Given the description of an element on the screen output the (x, y) to click on. 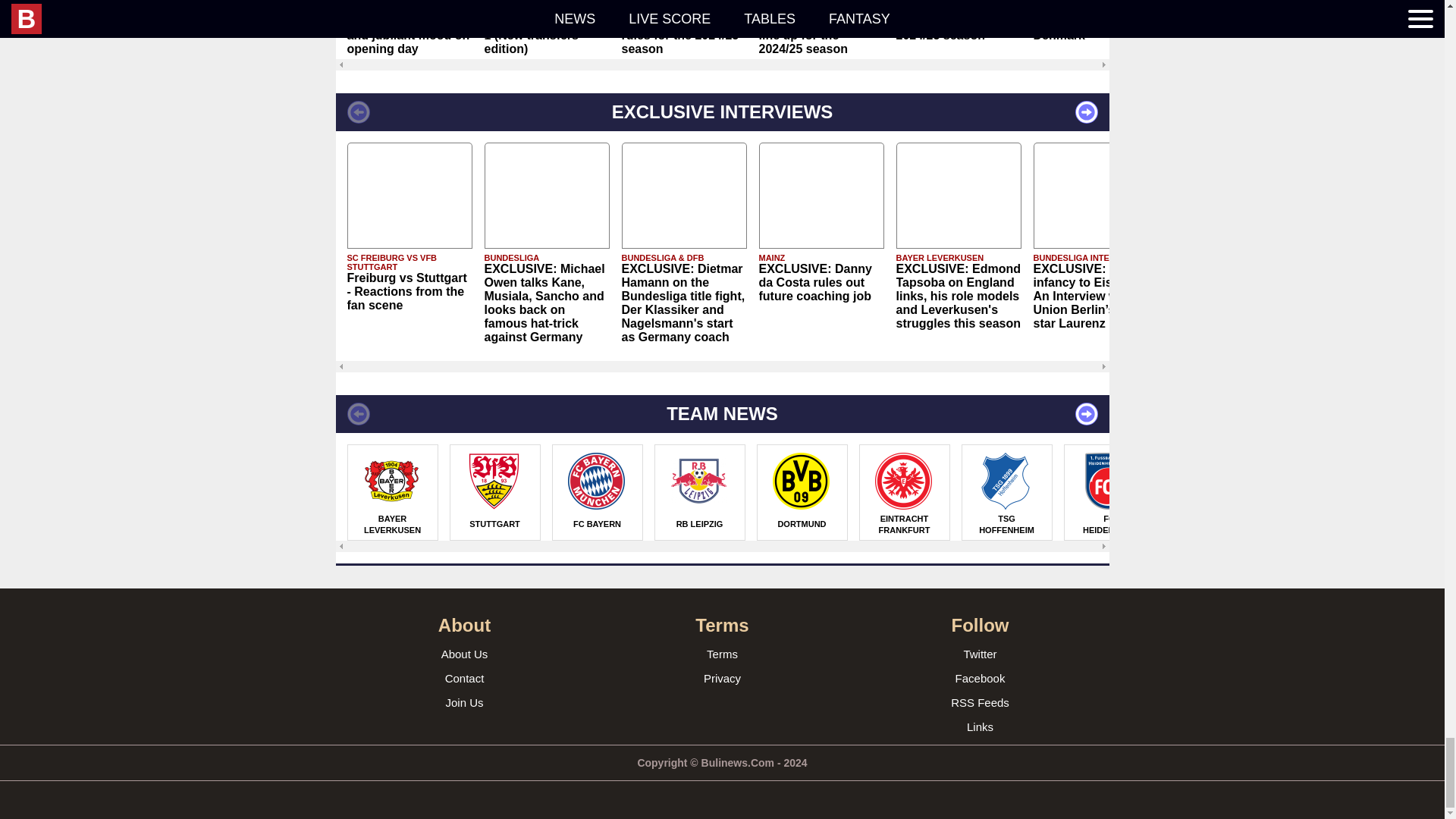
EXCLUSIVE INTERVIEWS (721, 112)
TEAM NEWS (721, 413)
